Given the description of an element on the screen output the (x, y) to click on. 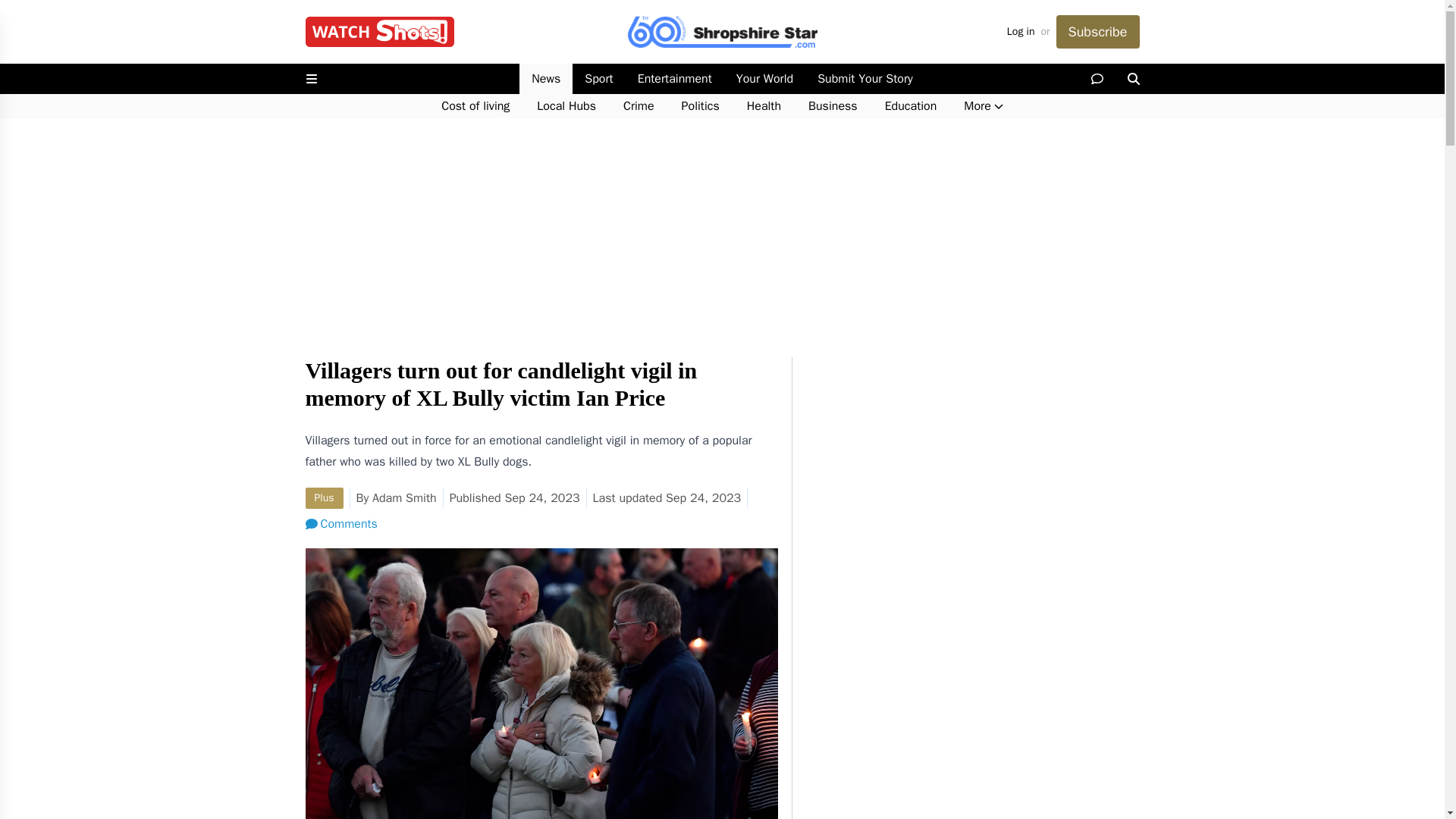
Log in (1021, 31)
News (545, 78)
Health (764, 105)
More (983, 105)
Submit Your Story (864, 78)
Crime (638, 105)
Subscribe (1096, 31)
Education (910, 105)
Local Hubs (566, 105)
Entertainment (674, 78)
Cost of living (475, 105)
Business (832, 105)
Sport (598, 78)
Politics (700, 105)
